Given the description of an element on the screen output the (x, y) to click on. 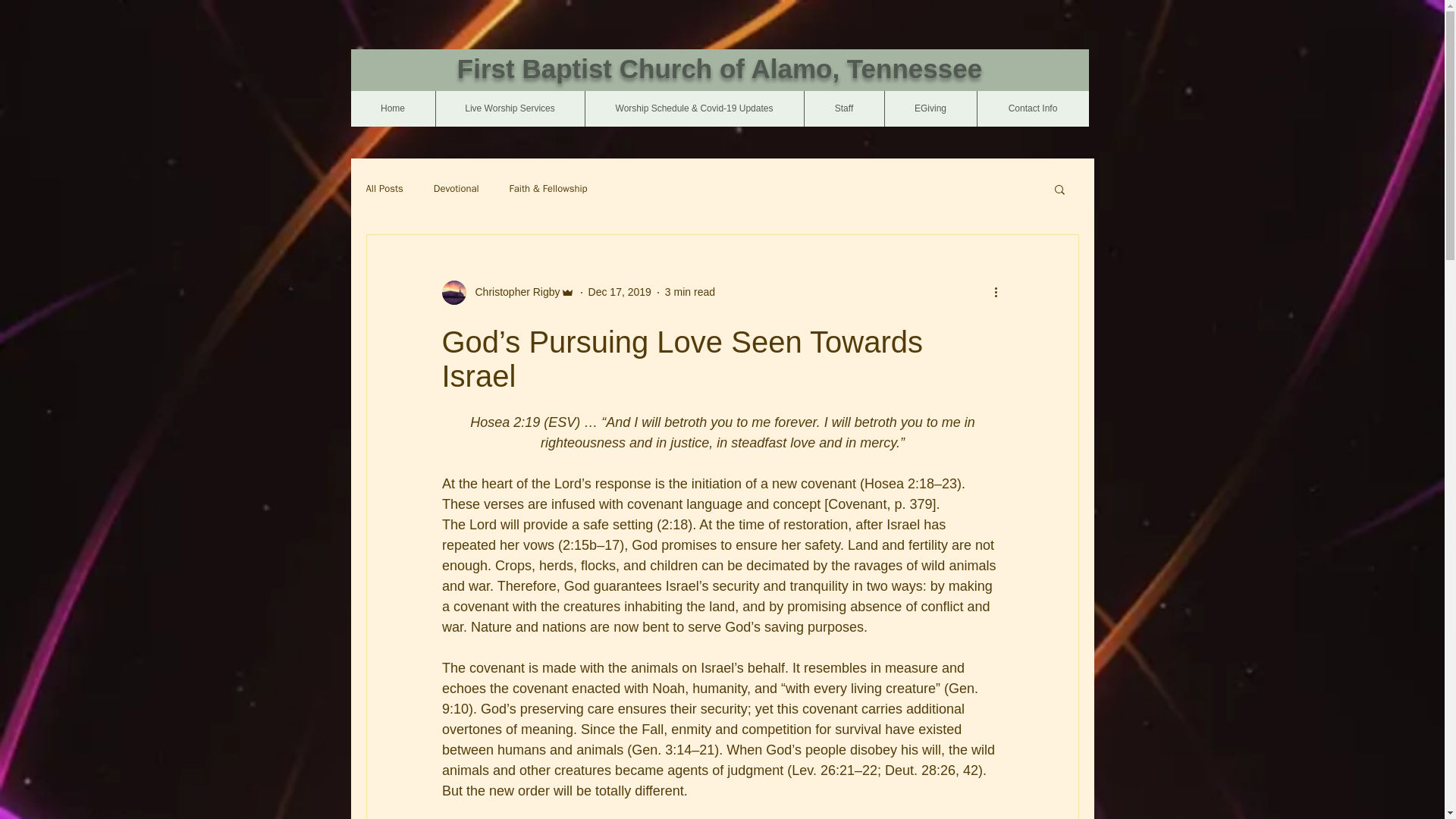
Christopher Rigby (512, 292)
EGiving (929, 108)
Christopher Rigby (507, 292)
Live Worship Services (510, 108)
Contact Info (1032, 108)
All Posts (384, 188)
3 min read (689, 291)
Home (391, 108)
Dec 17, 2019 (619, 291)
Devotional (456, 188)
